Given the description of an element on the screen output the (x, y) to click on. 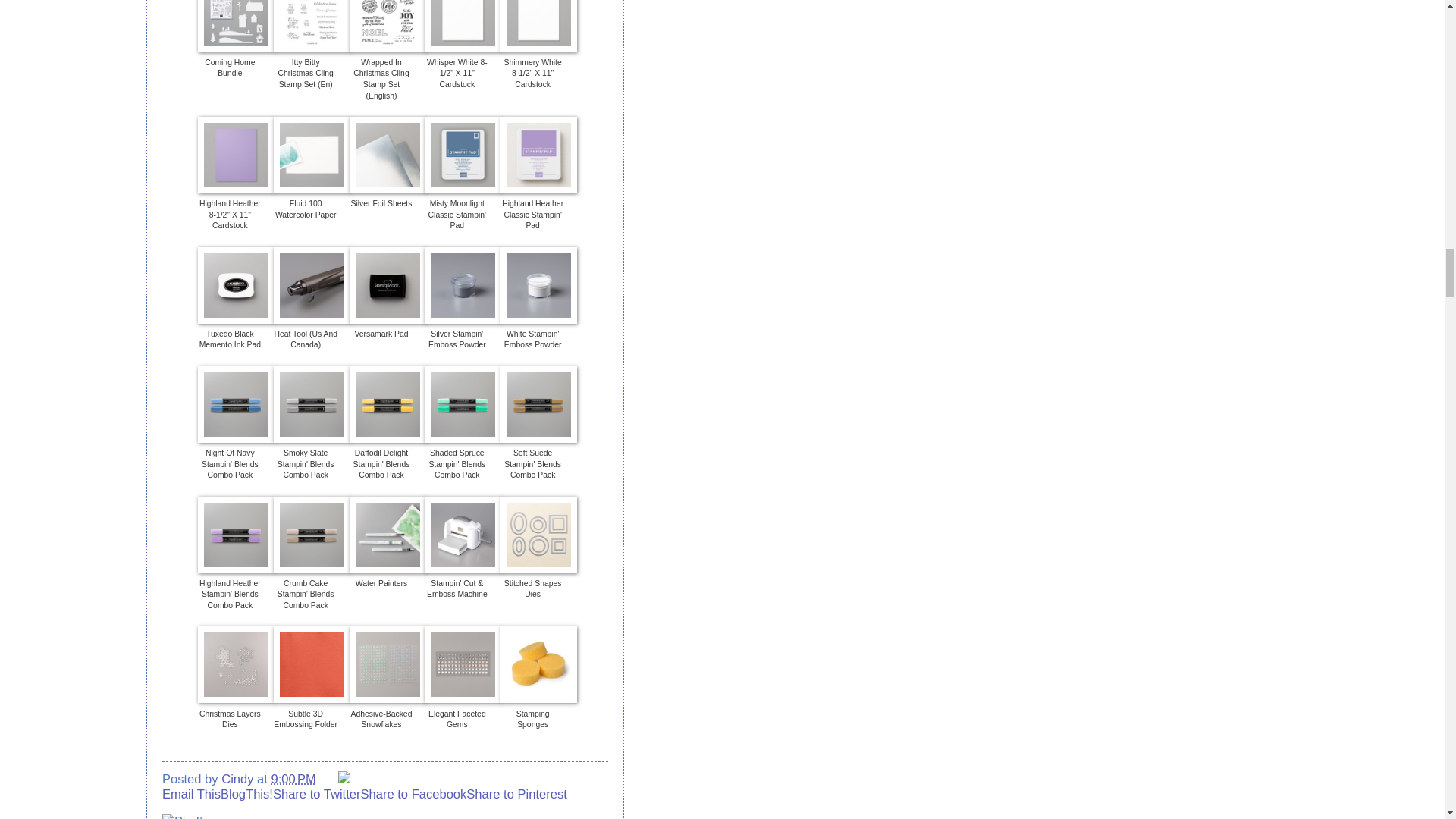
Coming Home Bundle (229, 67)
Versamark Pad (380, 334)
Highland Heather Classic Stampin' Pad (532, 214)
Tuxedo Black Memento Ink Pad (229, 339)
Fluid 100 Watercolor Paper (305, 209)
Coming Home Bundle (236, 26)
Coming Home Bundle (229, 67)
Coming Home Bundle (236, 47)
Silver Foil Sheets (381, 203)
Misty Moonlight Classic Stampin' Pad (457, 214)
